Given the description of an element on the screen output the (x, y) to click on. 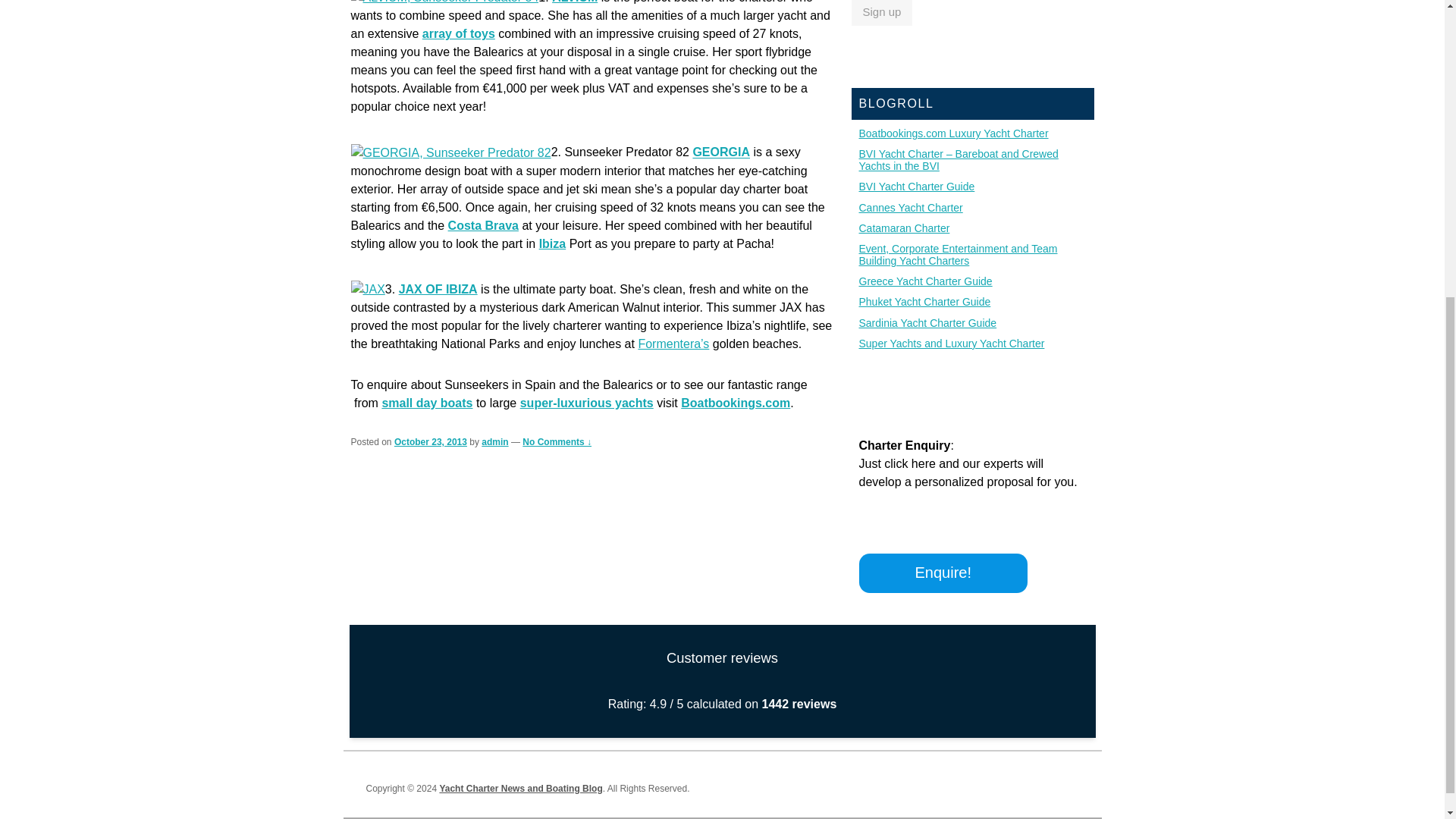
Ibiza and Formentera Day Charter Itinerary (673, 343)
ALVIUM (573, 2)
Sign up (881, 12)
4:06 pm (430, 441)
Costa Brava (483, 225)
Luxury Yacht Charter Guide (586, 402)
small day boats (426, 402)
Water Toys Add Fun to Yacht Charters (458, 33)
October 23, 2013 (430, 441)
